Given the description of an element on the screen output the (x, y) to click on. 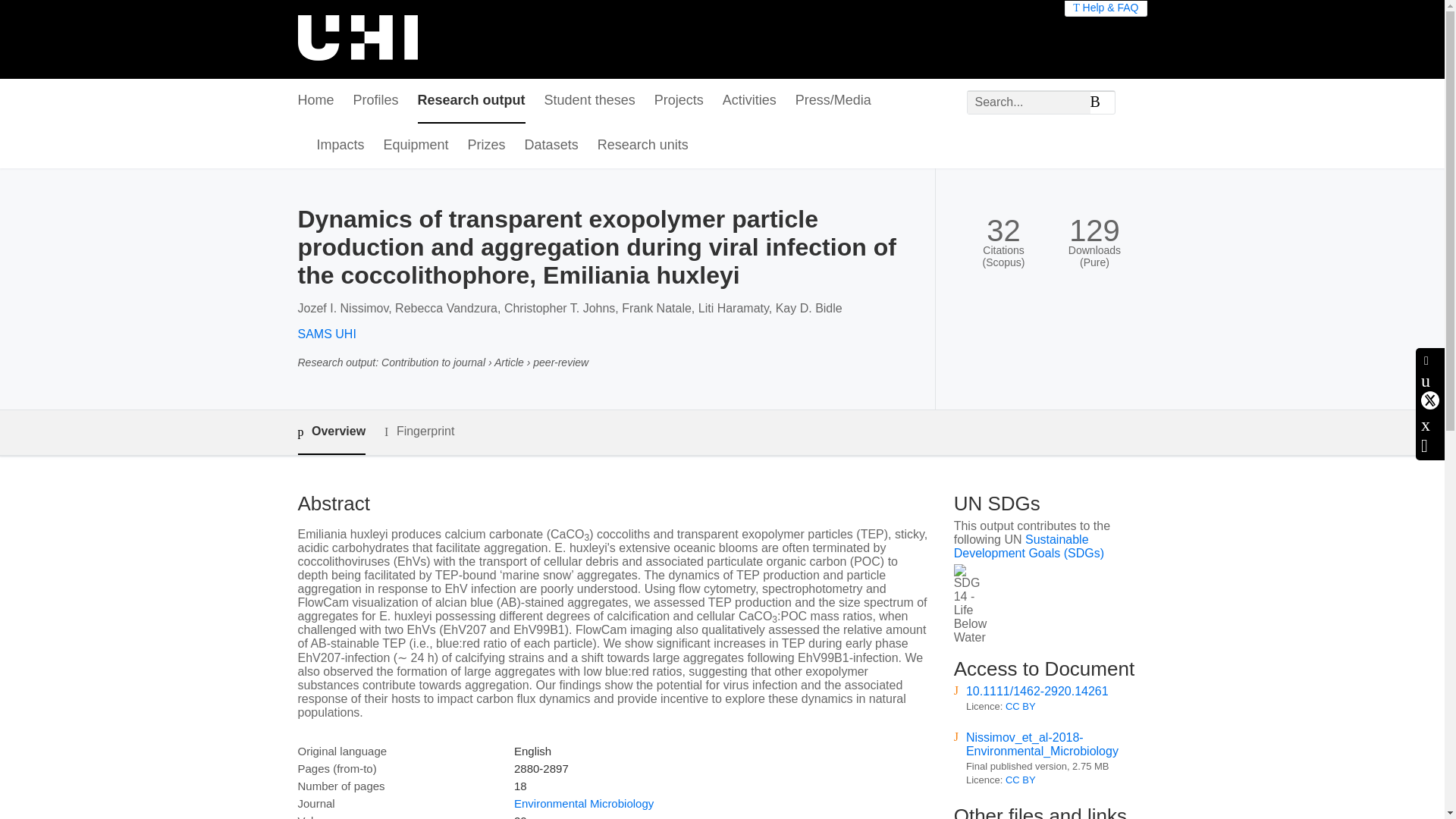
Datasets (551, 145)
Profiles (375, 100)
University of the Highlands and Islands Home (356, 39)
CC BY (1020, 779)
Overview (331, 432)
Research output (471, 100)
Impacts (341, 145)
Student theses (589, 100)
Equipment (416, 145)
Research units (642, 145)
